Given the description of an element on the screen output the (x, y) to click on. 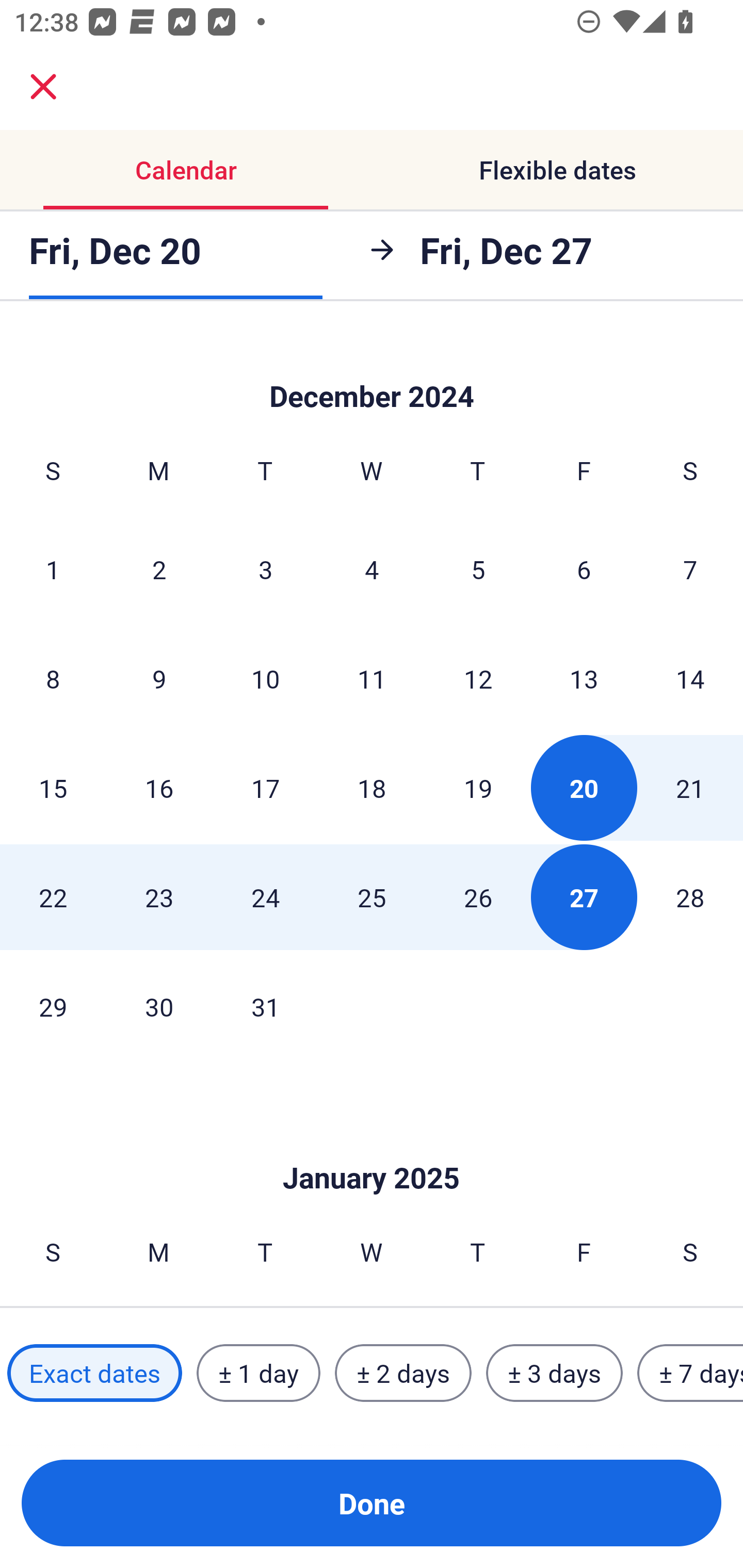
close. (43, 86)
Flexible dates (557, 170)
Skip to Done (371, 369)
1 Sunday, December 1, 2024 (53, 568)
2 Monday, December 2, 2024 (159, 568)
3 Tuesday, December 3, 2024 (265, 568)
4 Wednesday, December 4, 2024 (371, 568)
5 Thursday, December 5, 2024 (477, 568)
6 Friday, December 6, 2024 (584, 568)
7 Saturday, December 7, 2024 (690, 568)
8 Sunday, December 8, 2024 (53, 677)
9 Monday, December 9, 2024 (159, 677)
10 Tuesday, December 10, 2024 (265, 677)
11 Wednesday, December 11, 2024 (371, 677)
12 Thursday, December 12, 2024 (477, 677)
13 Friday, December 13, 2024 (584, 677)
14 Saturday, December 14, 2024 (690, 677)
15 Sunday, December 15, 2024 (53, 787)
16 Monday, December 16, 2024 (159, 787)
17 Tuesday, December 17, 2024 (265, 787)
18 Wednesday, December 18, 2024 (371, 787)
19 Thursday, December 19, 2024 (477, 787)
28 Saturday, December 28, 2024 (690, 896)
29 Sunday, December 29, 2024 (53, 1006)
30 Monday, December 30, 2024 (159, 1006)
31 Tuesday, December 31, 2024 (265, 1006)
Skip to Done (371, 1146)
Exact dates (94, 1372)
± 1 day (258, 1372)
± 2 days (403, 1372)
± 3 days (553, 1372)
± 7 days (690, 1372)
Done (371, 1502)
